Given the description of an element on the screen output the (x, y) to click on. 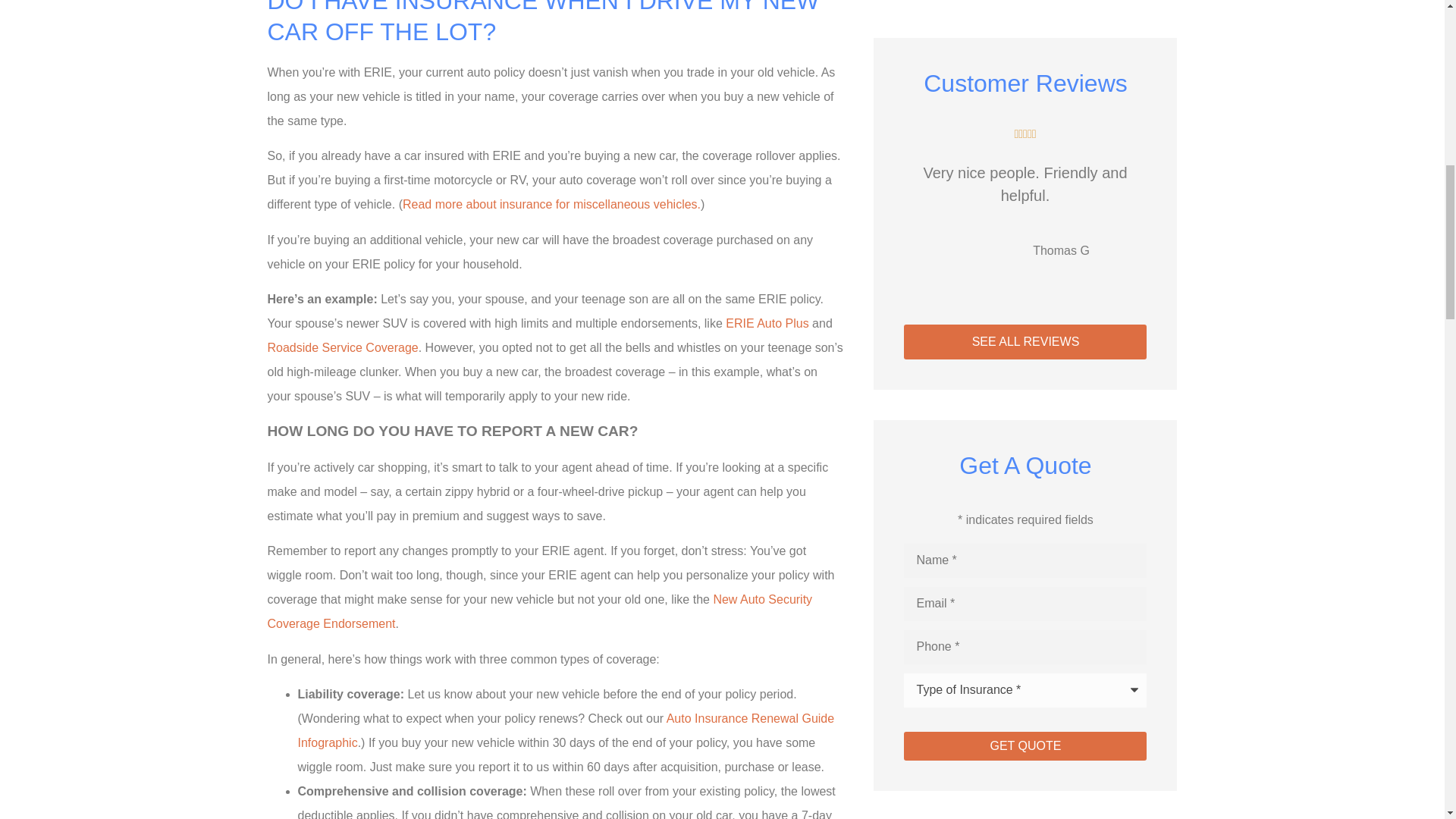
Get Quote (1025, 746)
